Given the description of an element on the screen output the (x, y) to click on. 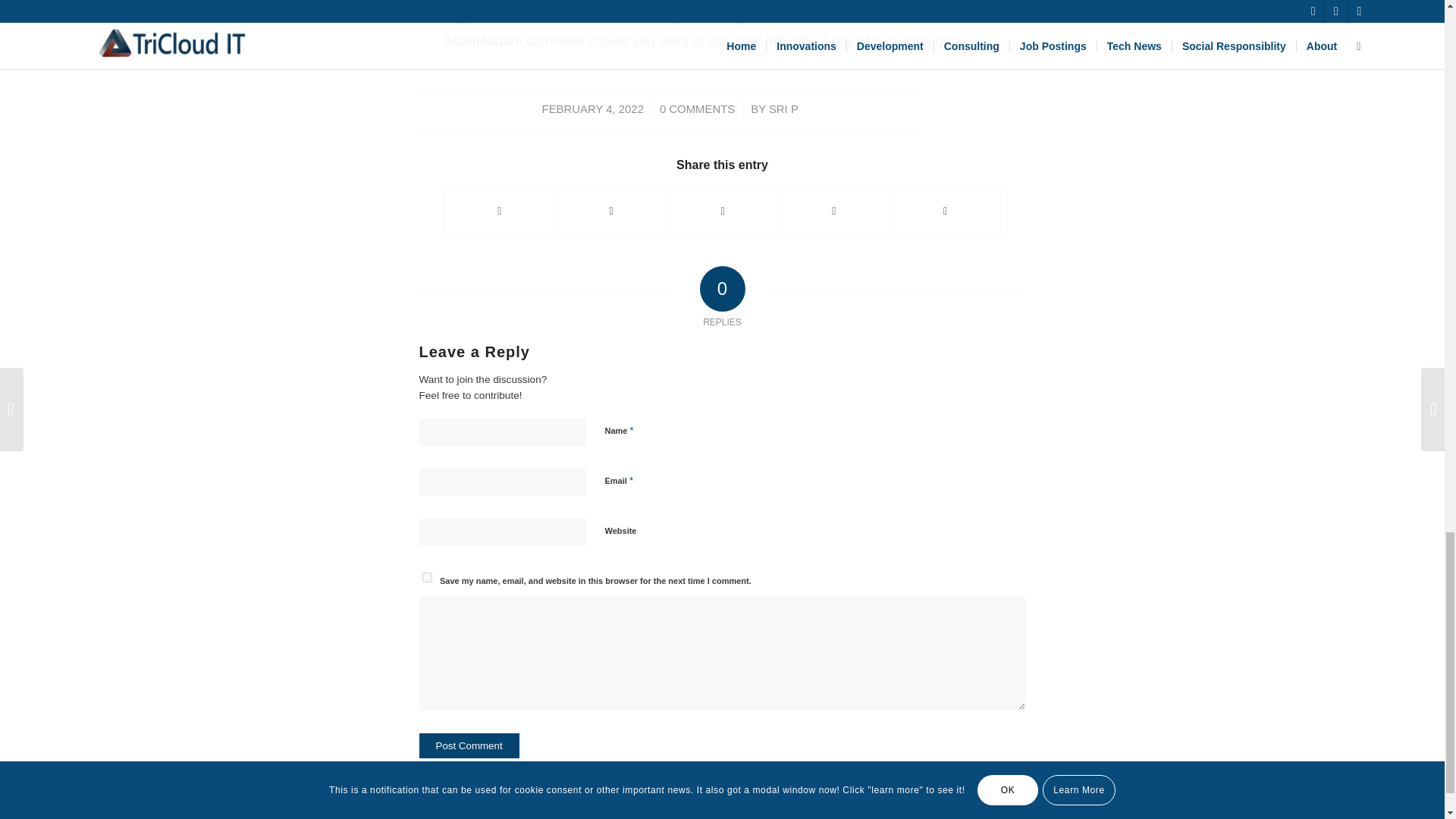
Posts by Sri P (782, 109)
SRI P (782, 109)
Post Comment (468, 745)
yes (426, 577)
0 COMMENTS (697, 109)
Post Comment (468, 745)
